Given the description of an element on the screen output the (x, y) to click on. 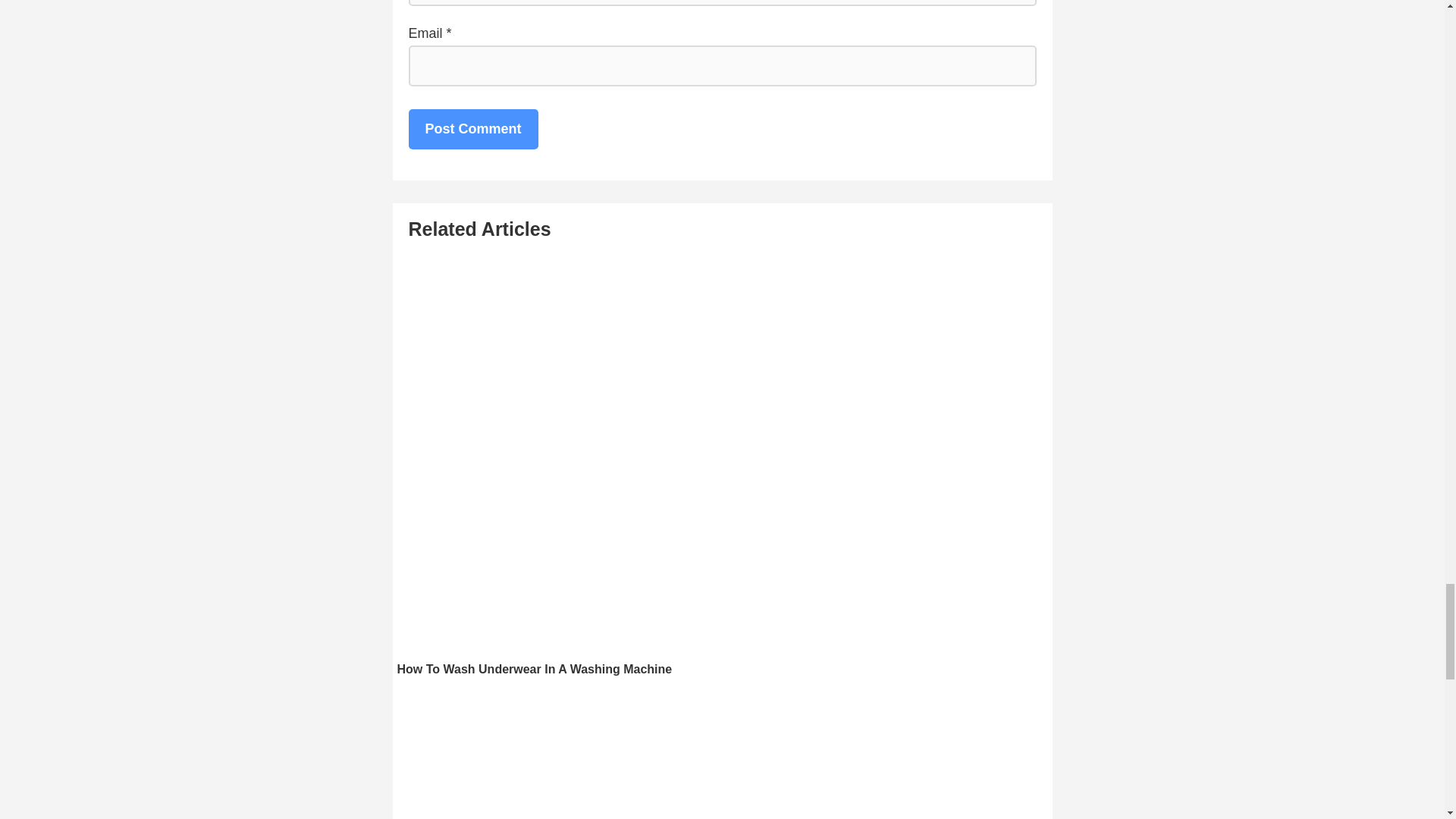
Post Comment (472, 128)
Can You Wash Linen In A Washing Machine? (722, 755)
